Given the description of an element on the screen output the (x, y) to click on. 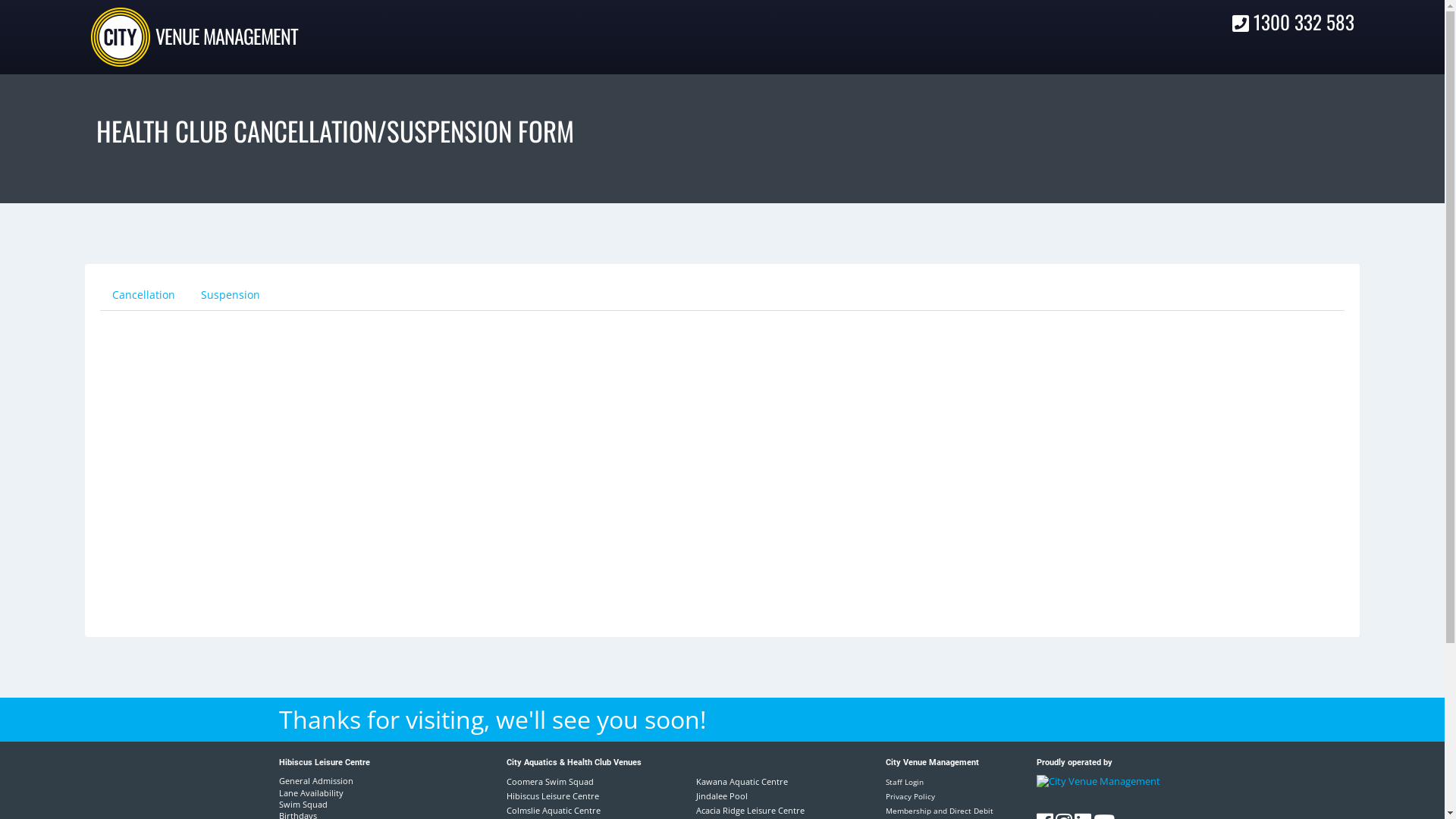
Privacy Policy Element type: text (910, 796)
VENUE MANAGEMENT Element type: text (226, 35)
Staff Login Element type: text (904, 781)
General Admission Element type: text (337, 780)
Hibiscus Leisure Centre Element type: text (552, 795)
Suspension Element type: text (230, 294)
Kawana Aquatic Centre Element type: text (741, 781)
Coomera Swim Squad Element type: text (549, 781)
Lane Availability Element type: text (337, 792)
1300 332 583 Element type: text (1293, 21)
Cancellation Element type: text (143, 294)
Acacia Ridge Leisure Centre Element type: text (750, 810)
Colmslie Aquatic Centre Element type: text (553, 810)
Jindalee Pool Element type: text (721, 795)
Swim Squad Element type: text (337, 803)
